Given the description of an element on the screen output the (x, y) to click on. 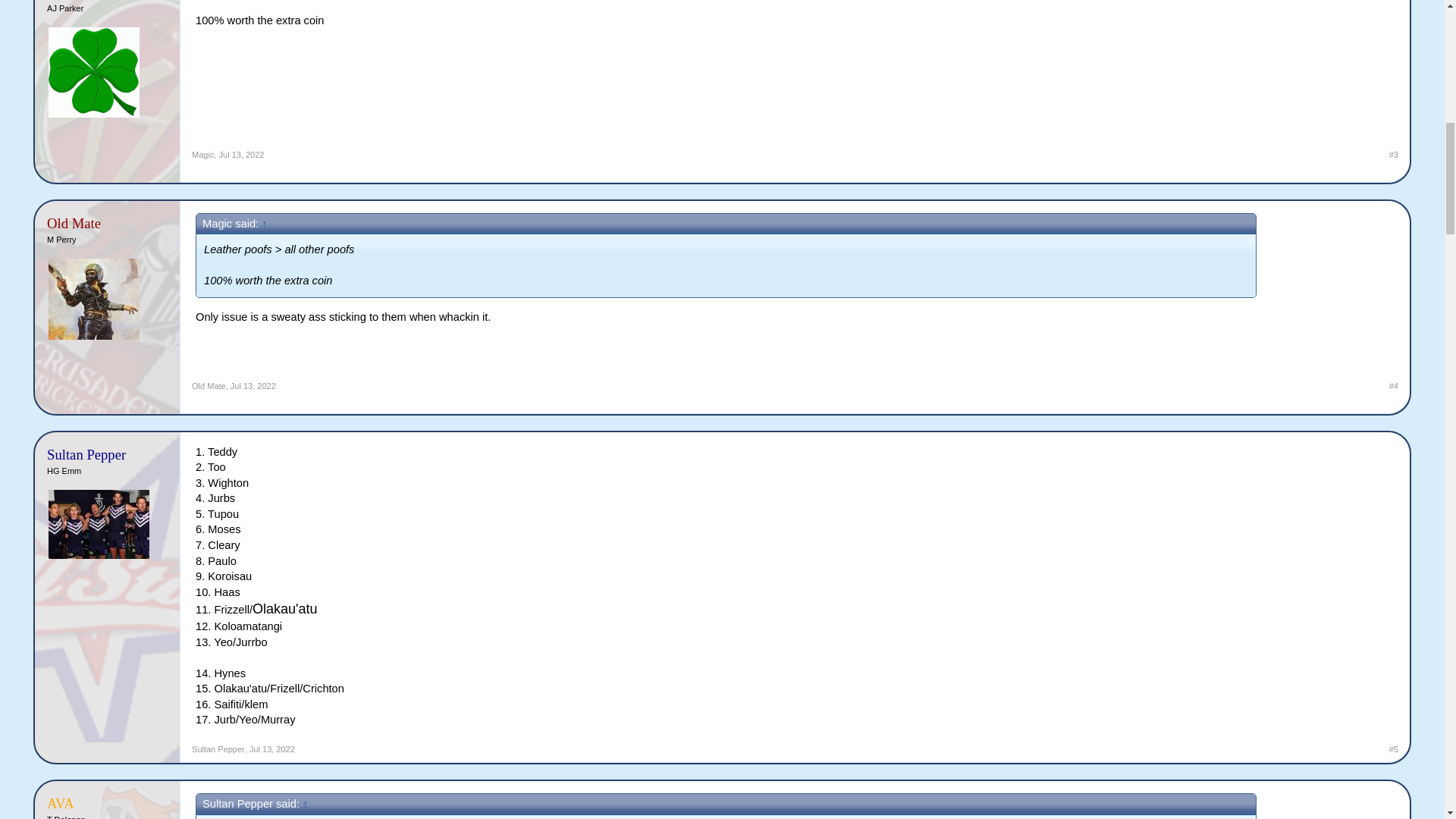
Magic (203, 153)
Old Mate (95, 223)
Magic (95, 1)
Permalink (271, 748)
Permalink (241, 153)
Old Mate (208, 385)
Jul 13, 2022 (241, 153)
Permalink (253, 385)
